Given the description of an element on the screen output the (x, y) to click on. 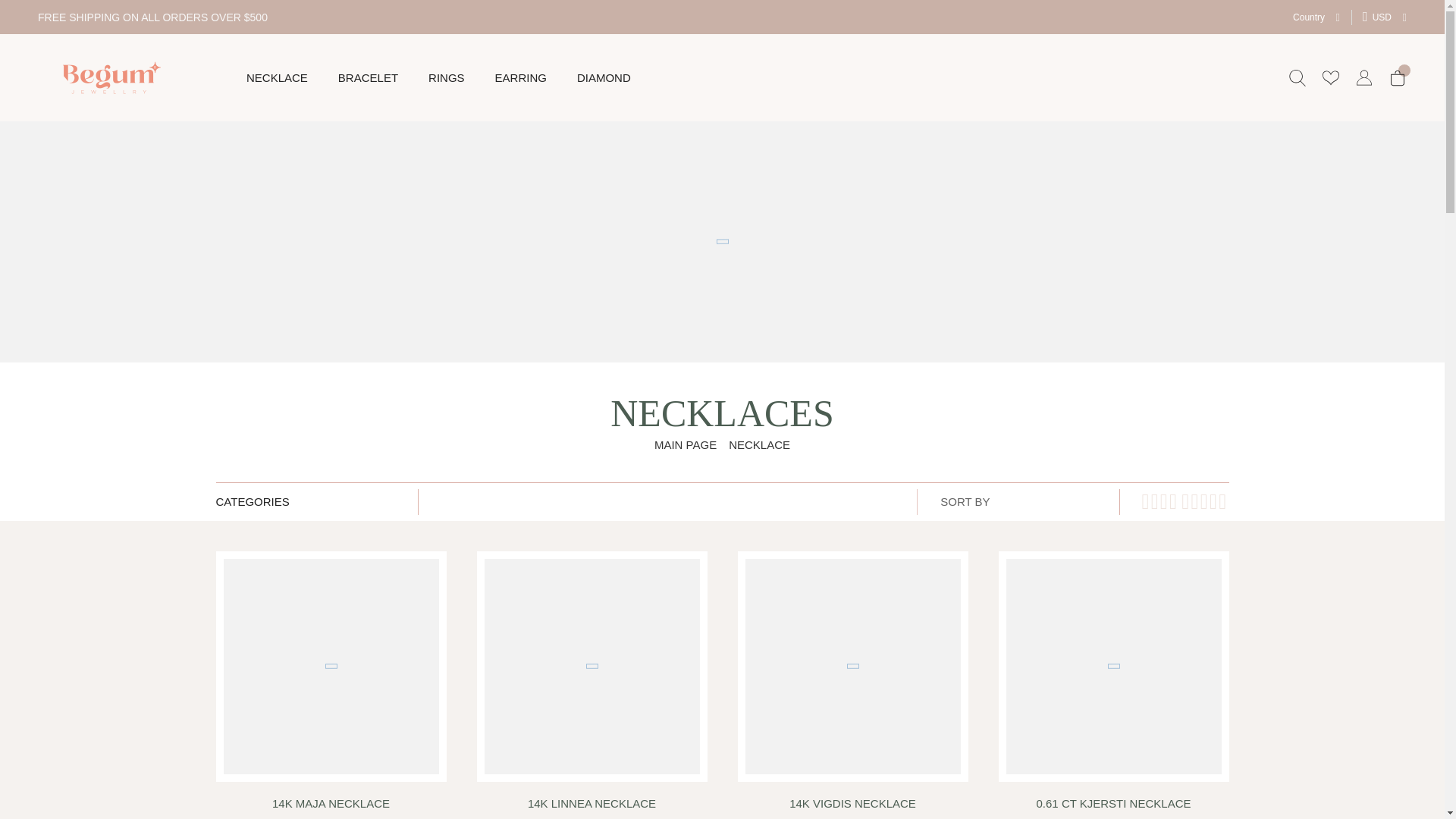
NECKLACE (276, 77)
14K VIGDIS NECKLACE (852, 807)
BRACELET (367, 77)
0.61 CT KJERSTI NECKLACE (1112, 807)
CATEGORIES (315, 501)
MAIN PAGE (684, 445)
DIAMOND (603, 77)
EARRING (521, 77)
14K MAJA NECKLACE (330, 807)
RINGS (446, 77)
